Given the description of an element on the screen output the (x, y) to click on. 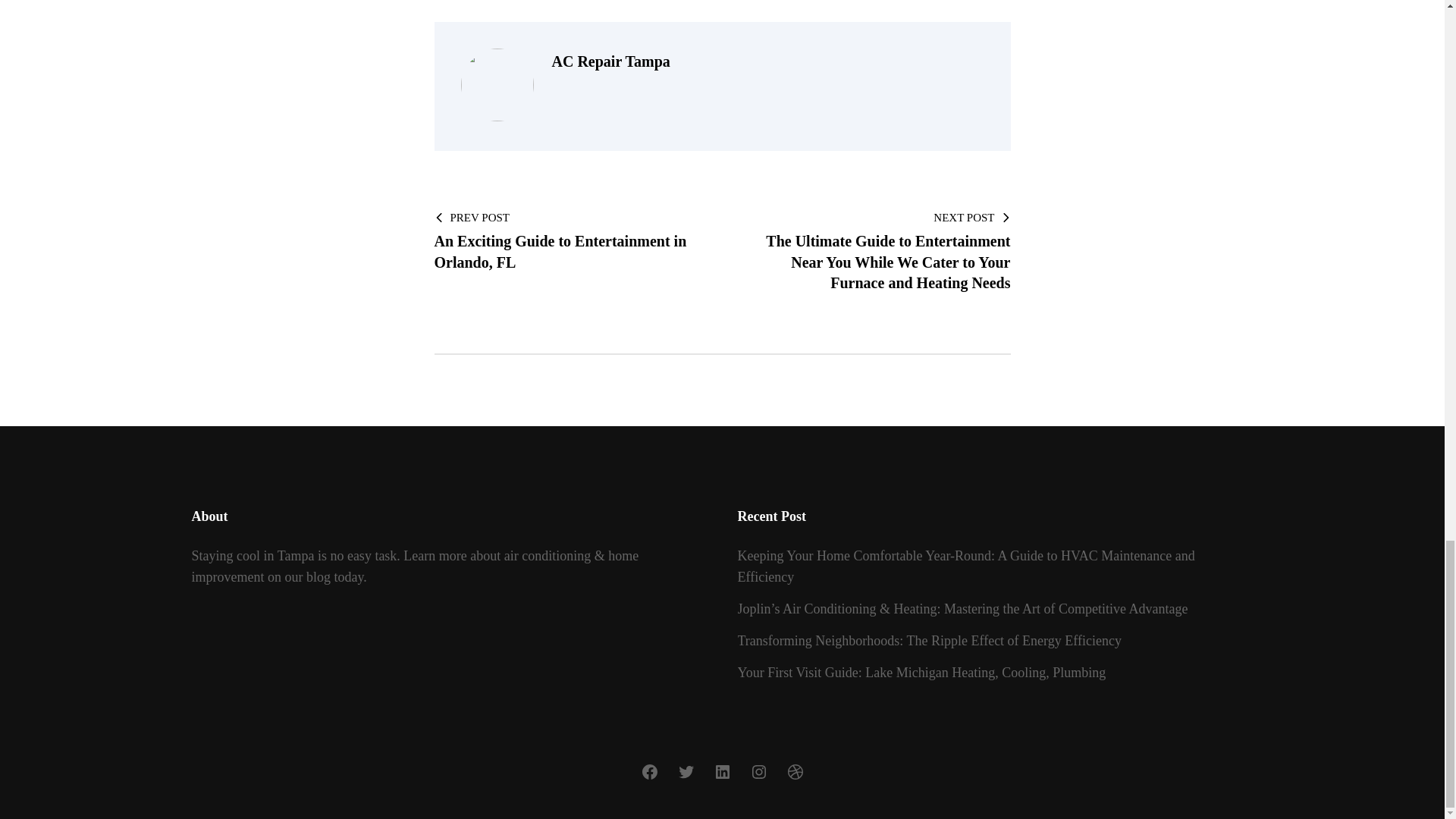
Dribbble (794, 771)
LinkedIn (721, 771)
Instagram (565, 240)
Facebook (758, 771)
Twitter (649, 771)
